Given the description of an element on the screen output the (x, y) to click on. 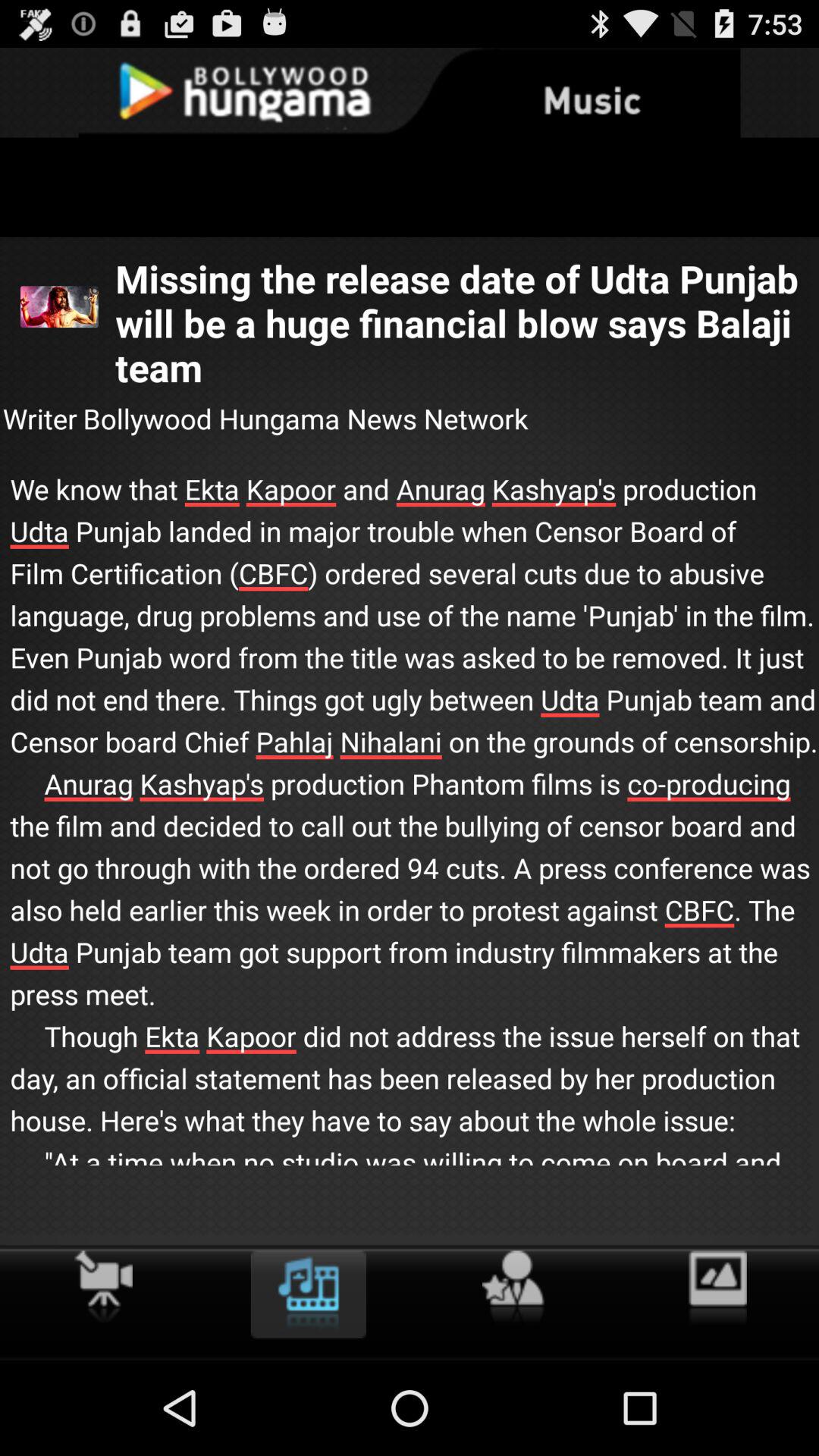
swipe until the we know that item (409, 842)
